Given the description of an element on the screen output the (x, y) to click on. 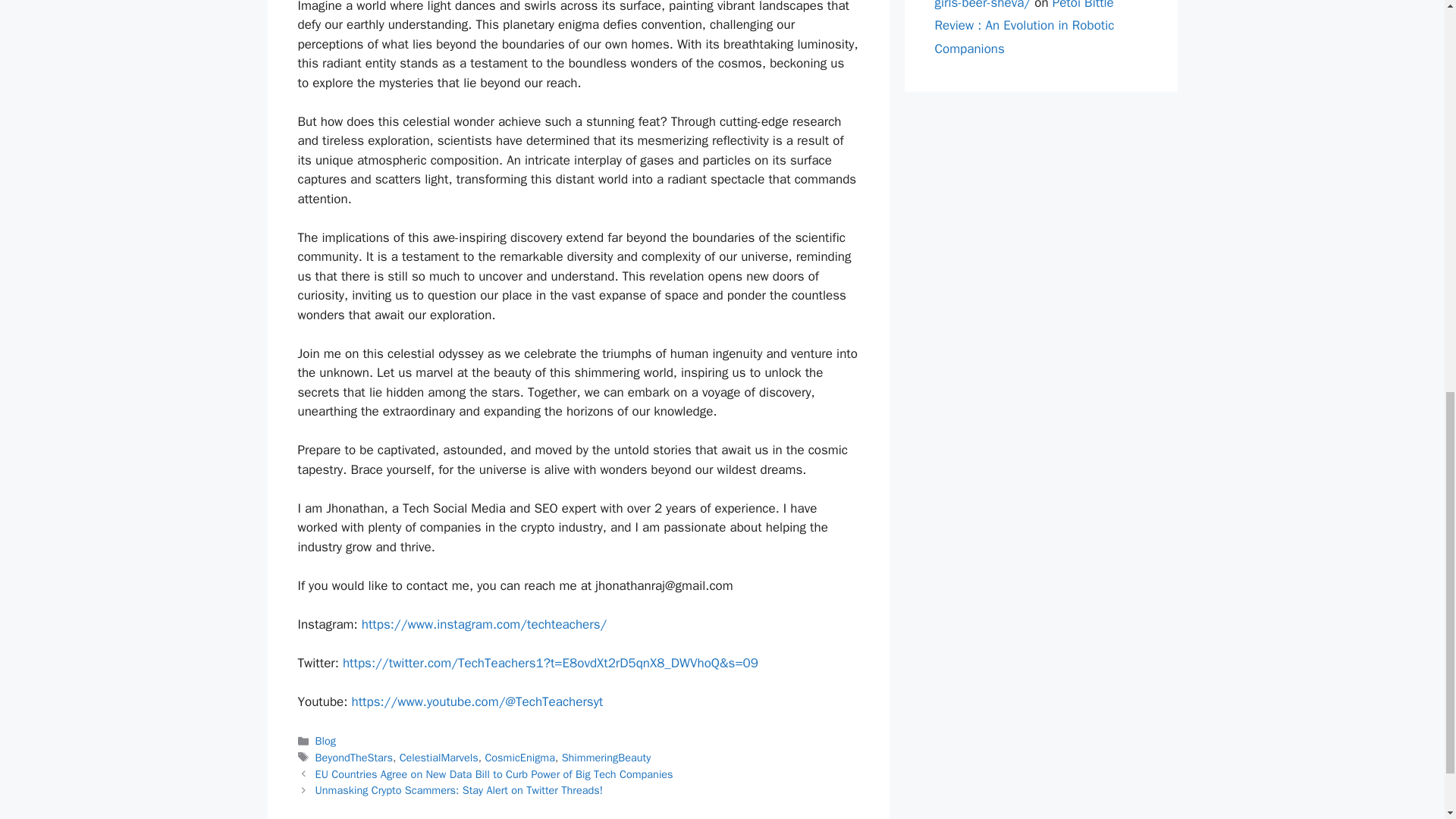
Blog (325, 740)
CelestialMarvels (438, 757)
Petoi Bittle Review : An Evolution in Robotic Companions (1023, 28)
CosmicEnigma (519, 757)
Unmasking Crypto Scammers: Stay Alert on Twitter Threads! (459, 789)
ShimmeringBeauty (606, 757)
BeyondTheStars (354, 757)
